Given the description of an element on the screen output the (x, y) to click on. 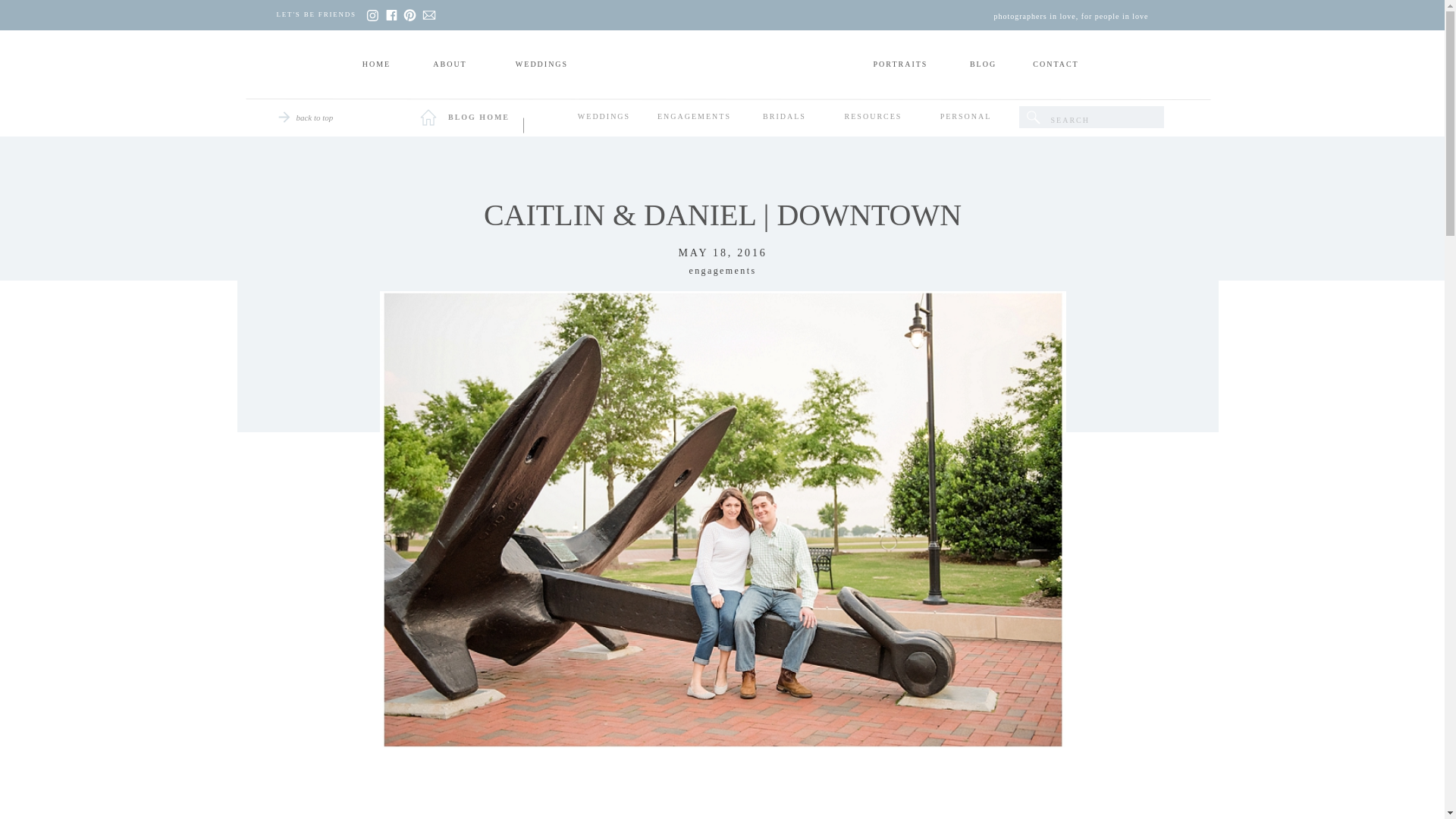
LET'S BE FRIENDS (320, 15)
Instagram-color Created with Sketch. (371, 15)
BRIDALS (783, 118)
BLOG HOME (478, 119)
PORTRAITS (901, 65)
BLOG (982, 65)
PERSONAL (965, 118)
WEDDINGS (603, 118)
WEDDINGS (541, 65)
RESOURCES (873, 118)
CONTACT (1056, 65)
ABOUT (450, 65)
 back to top (312, 119)
ENGAGEMENTS (694, 118)
Facebook Copy-color Created with Sketch. (390, 15)
